Given the description of an element on the screen output the (x, y) to click on. 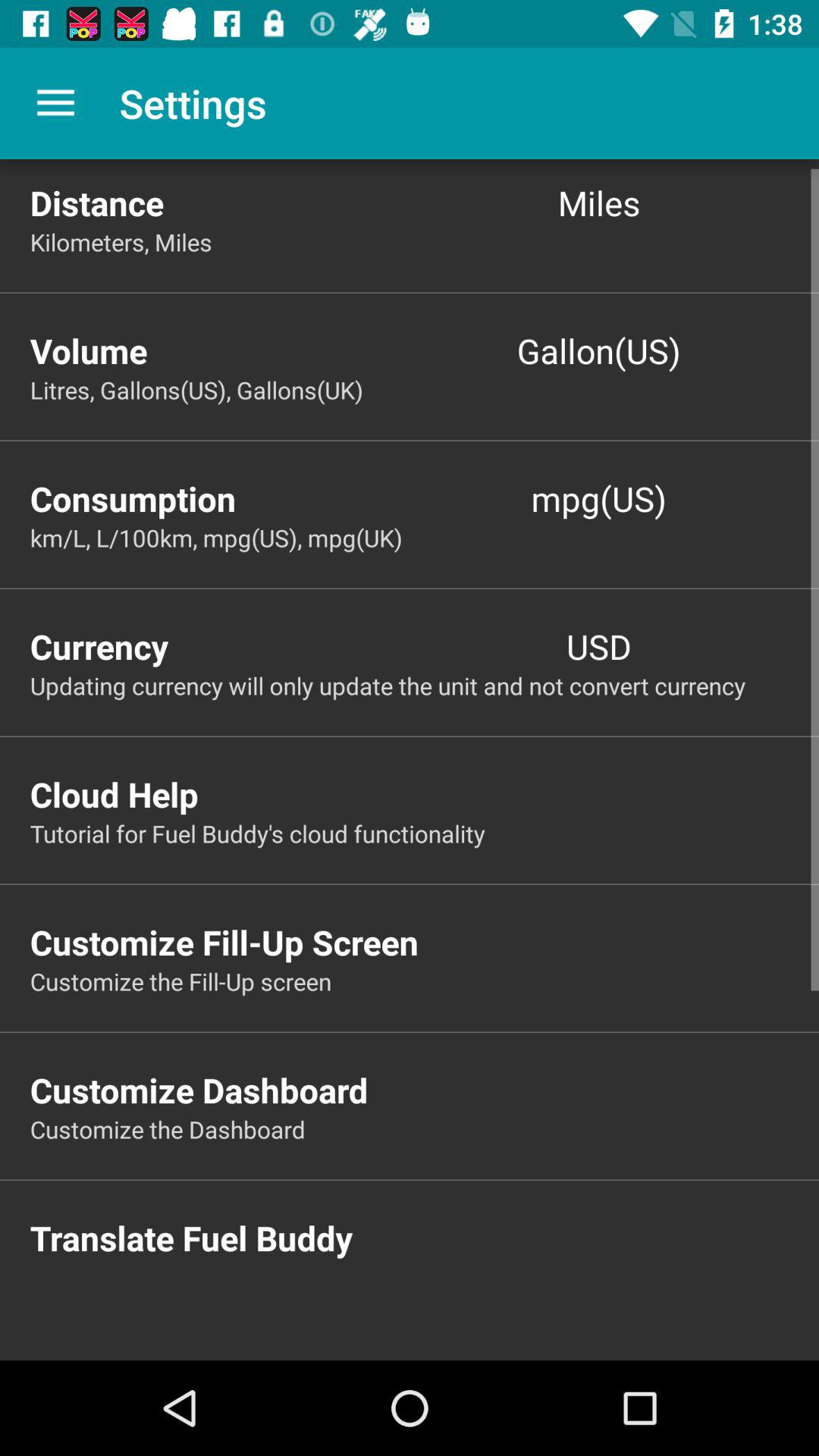
jump to kilometers, miles icon (424, 241)
